Given the description of an element on the screen output the (x, y) to click on. 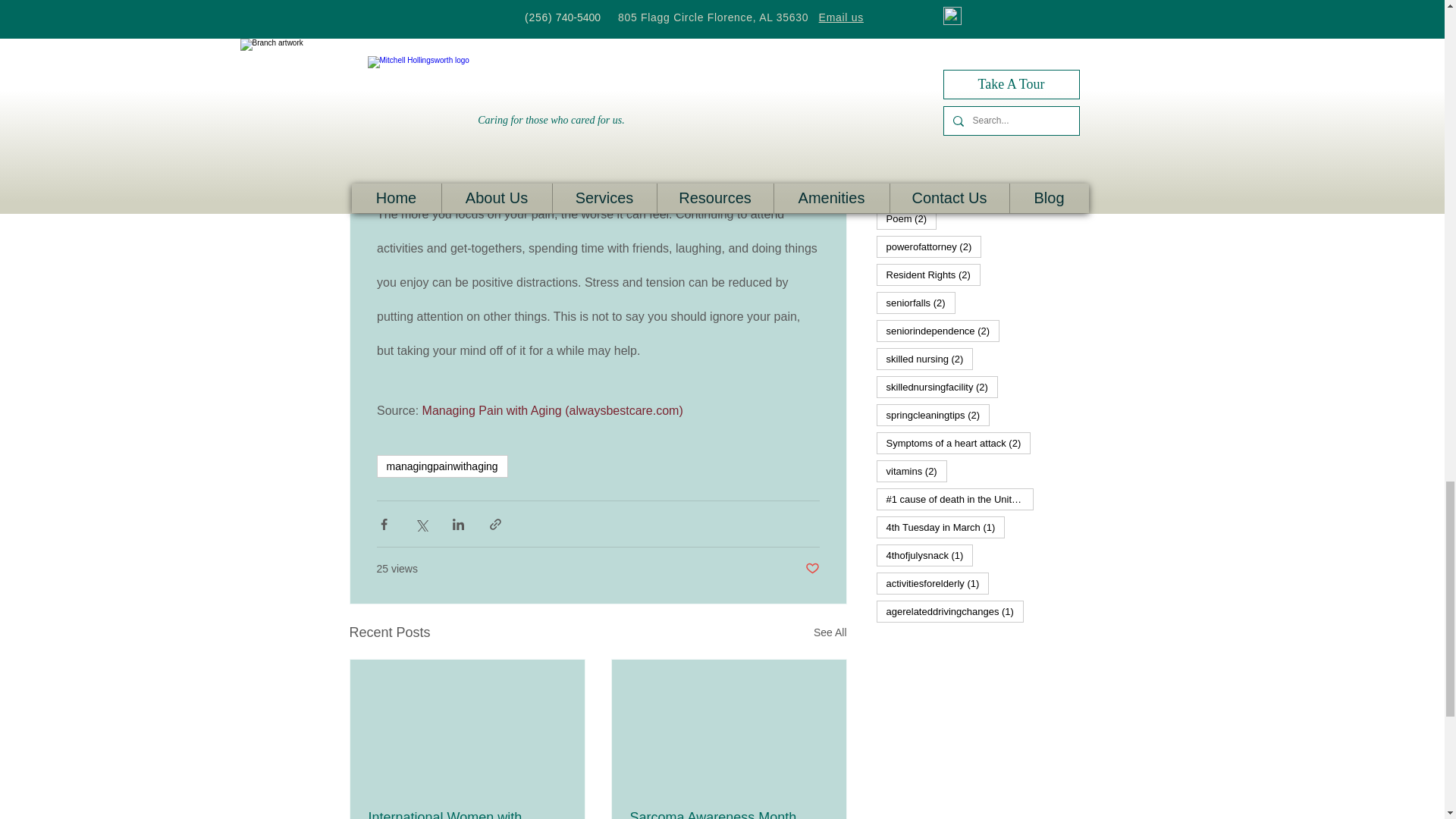
See All (830, 632)
managingpainwithaging (440, 466)
International Women with Alopecia Month (467, 814)
Post not marked as liked (812, 569)
